Given the description of an element on the screen output the (x, y) to click on. 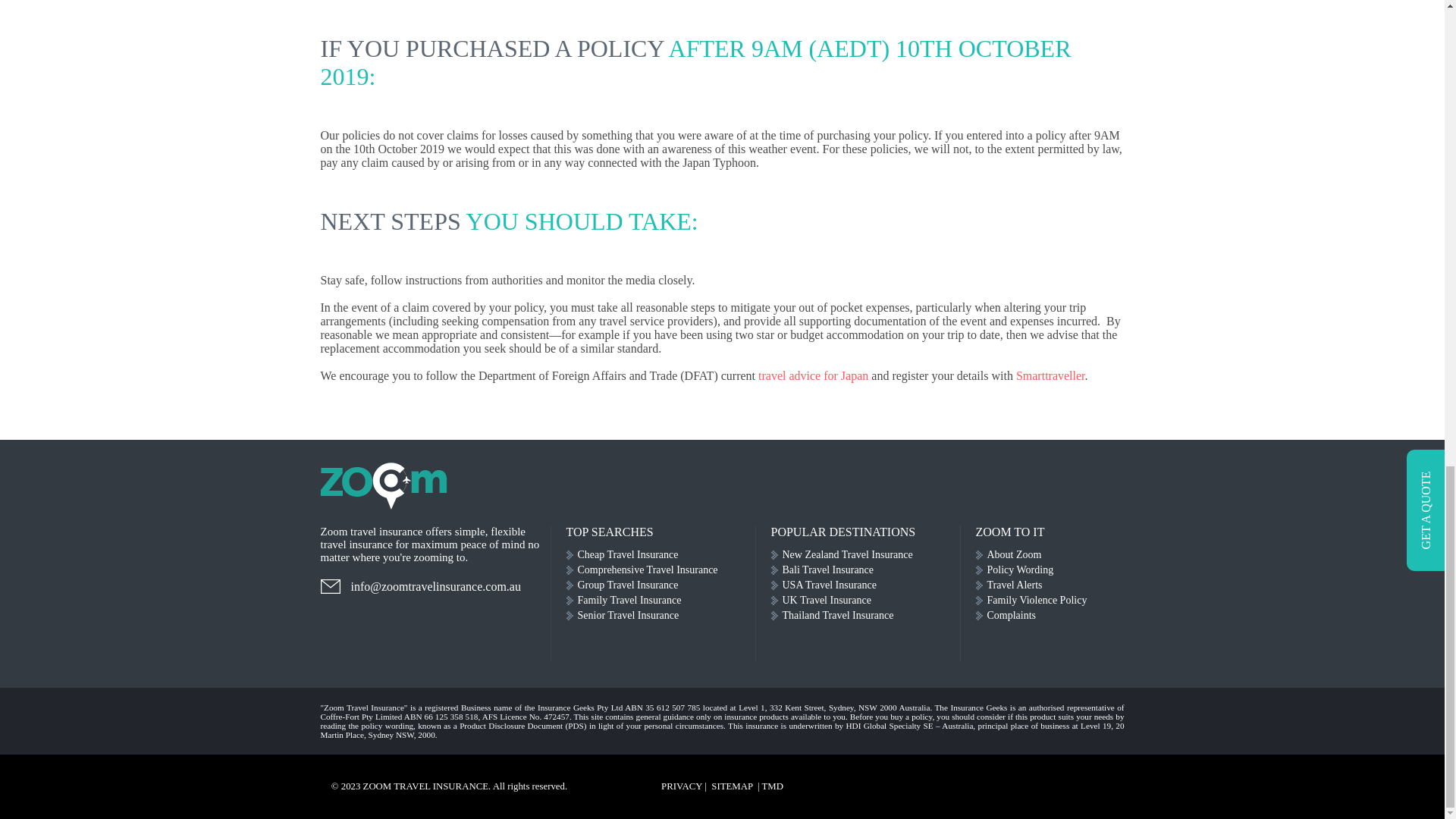
travel advice for (799, 375)
Japan (854, 375)
Cheap Travel Insurance (660, 554)
Comprehensive Travel Insurance (660, 570)
Group Travel Insurance (660, 585)
Smarttraveller (1050, 375)
Family Travel Insurance (660, 600)
